Given the description of an element on the screen output the (x, y) to click on. 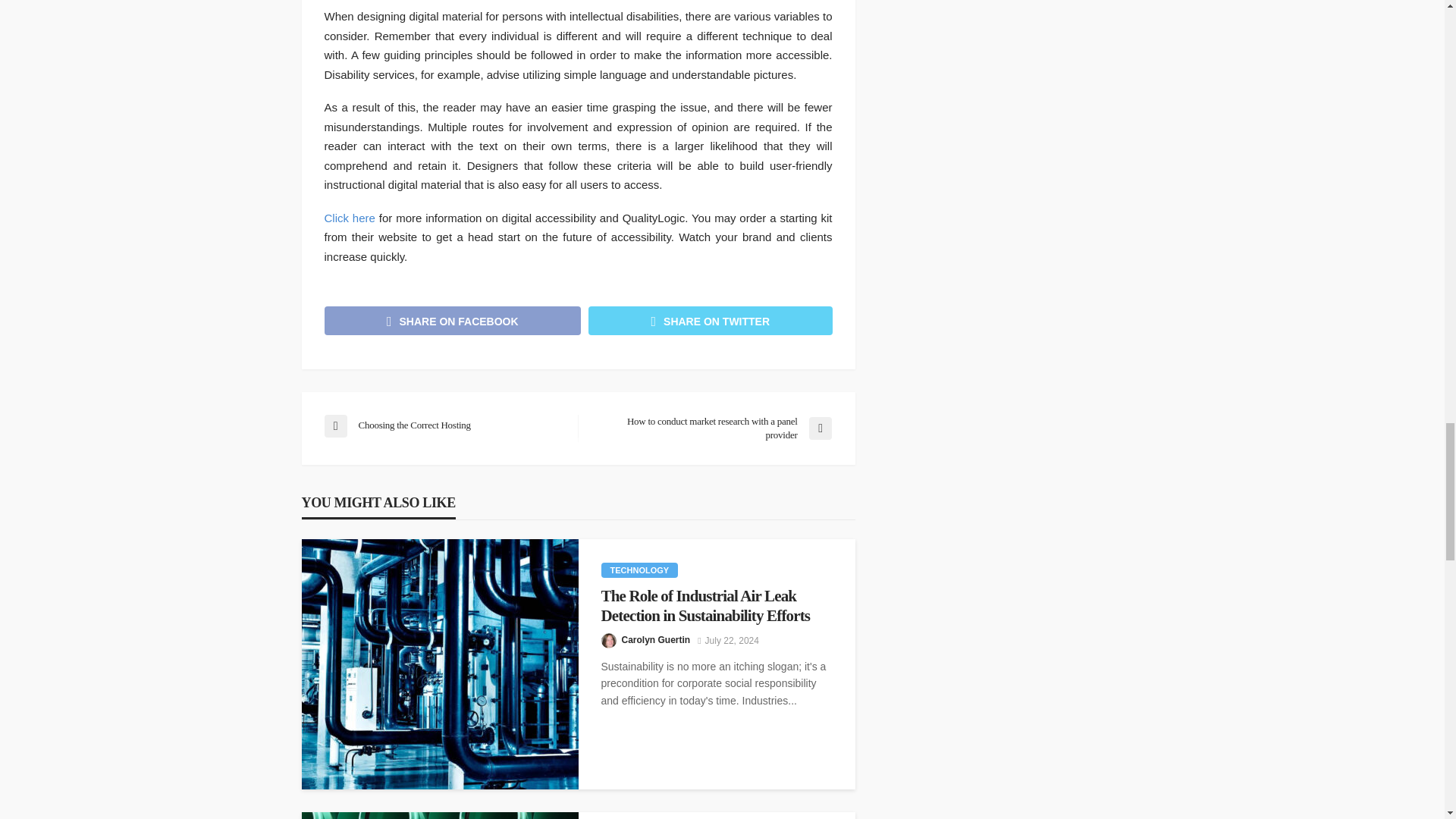
How to conduct market research with a panel provider (711, 428)
Technology (638, 570)
SHARE ON TWITTER (709, 320)
Top Three Signs of Clogged Sewer Lines (439, 815)
How to conduct market research with a panel provider (711, 428)
SHARE ON FACEBOOK (452, 320)
Carolyn Guertin (655, 639)
Click here (349, 217)
